Given the description of an element on the screen output the (x, y) to click on. 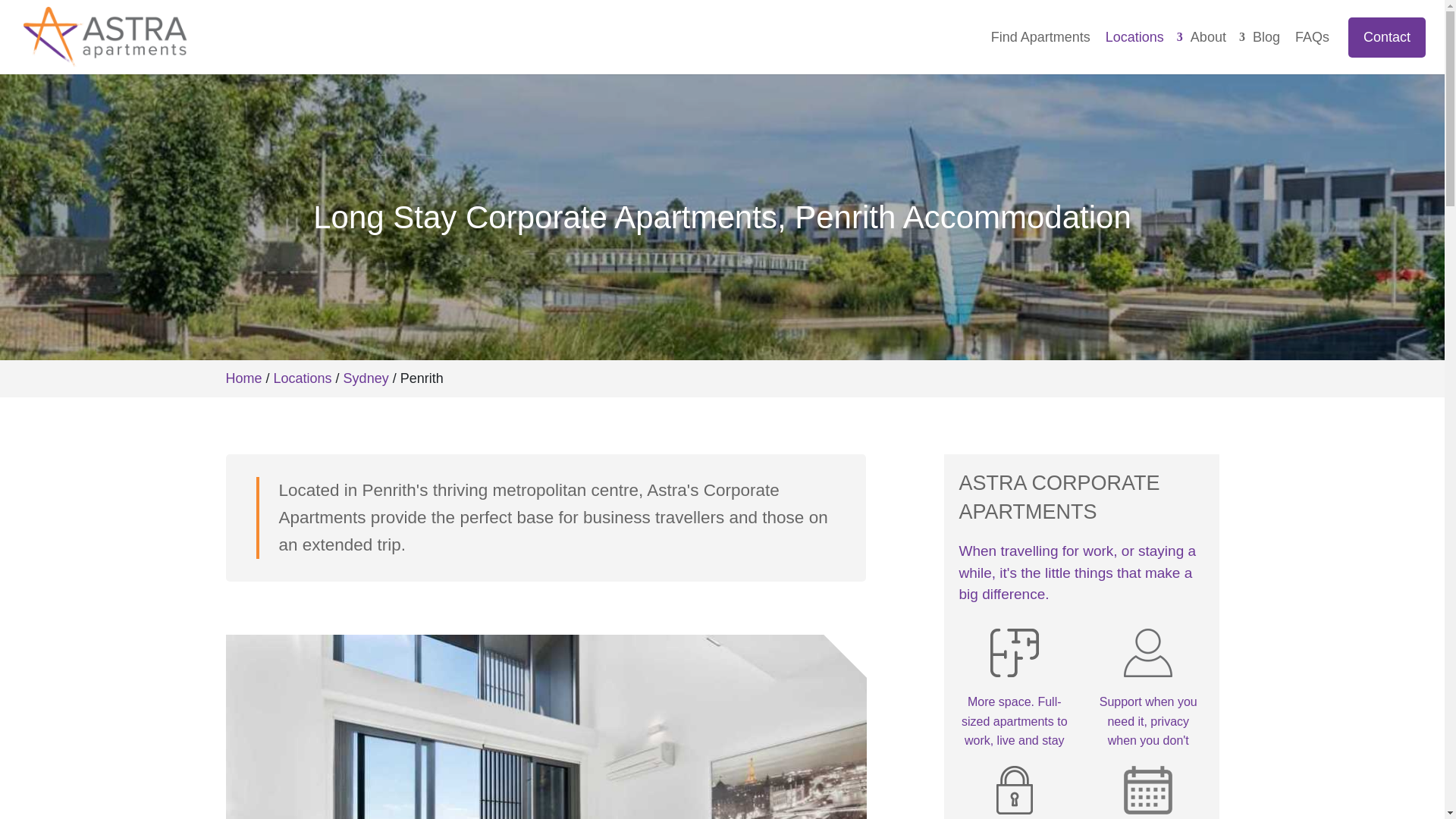
Contact (1386, 36)
Open Plan (1014, 652)
FAQs (1311, 37)
Find Apartments (1040, 37)
About (1213, 37)
001-calendar (1148, 789)
Lock (1014, 789)
person128x128 (1148, 652)
Blog (1265, 37)
Locations (1139, 37)
